Given the description of an element on the screen output the (x, y) to click on. 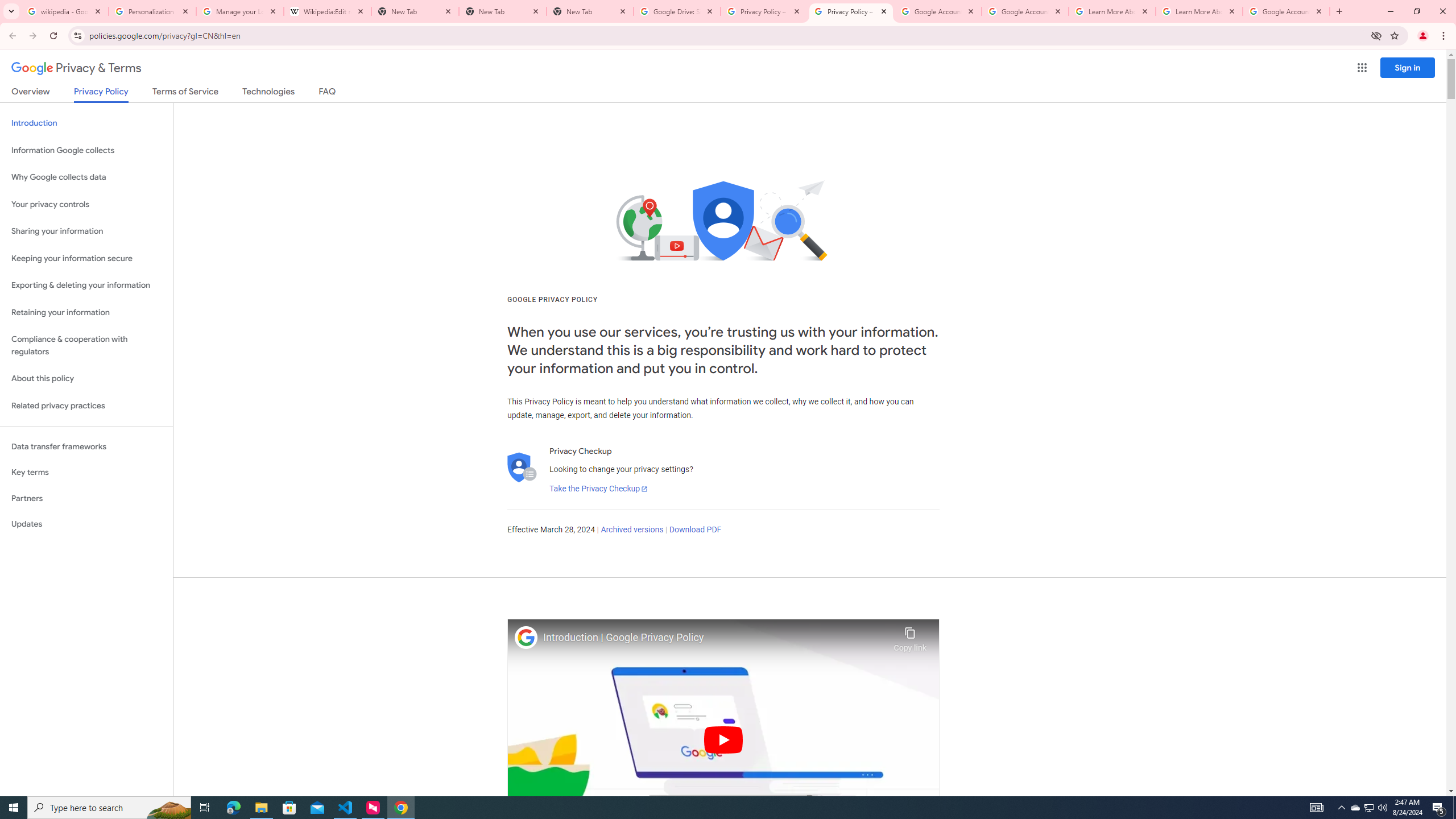
Photo image of Google (526, 636)
New Tab (502, 11)
Related privacy practices (86, 405)
Play (723, 739)
Personalization & Google Search results - Google Search Help (151, 11)
